Given the description of an element on the screen output the (x, y) to click on. 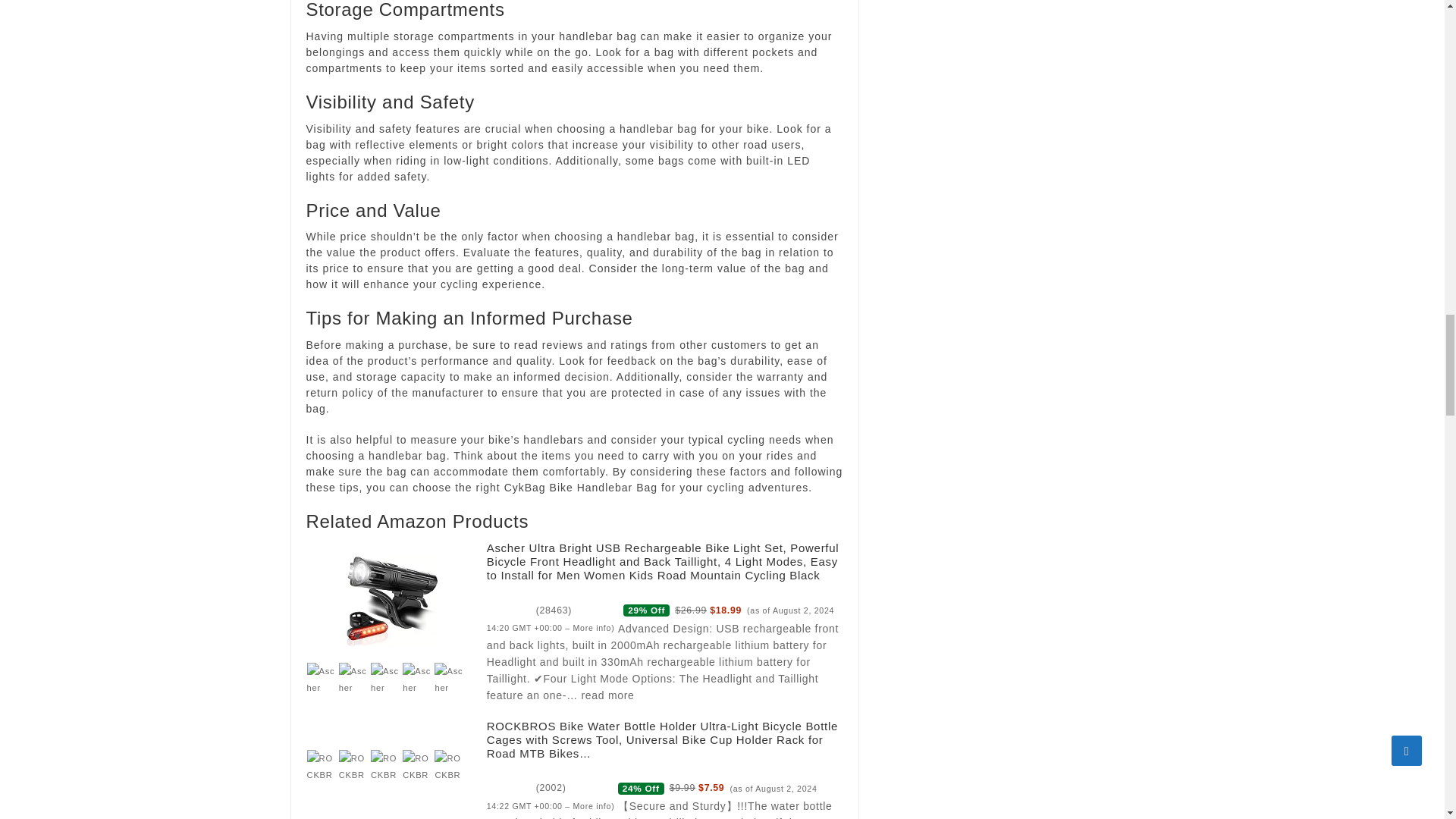
2002 (551, 787)
28463 (554, 610)
More info (592, 627)
read more (606, 695)
More info (592, 805)
